Given the description of an element on the screen output the (x, y) to click on. 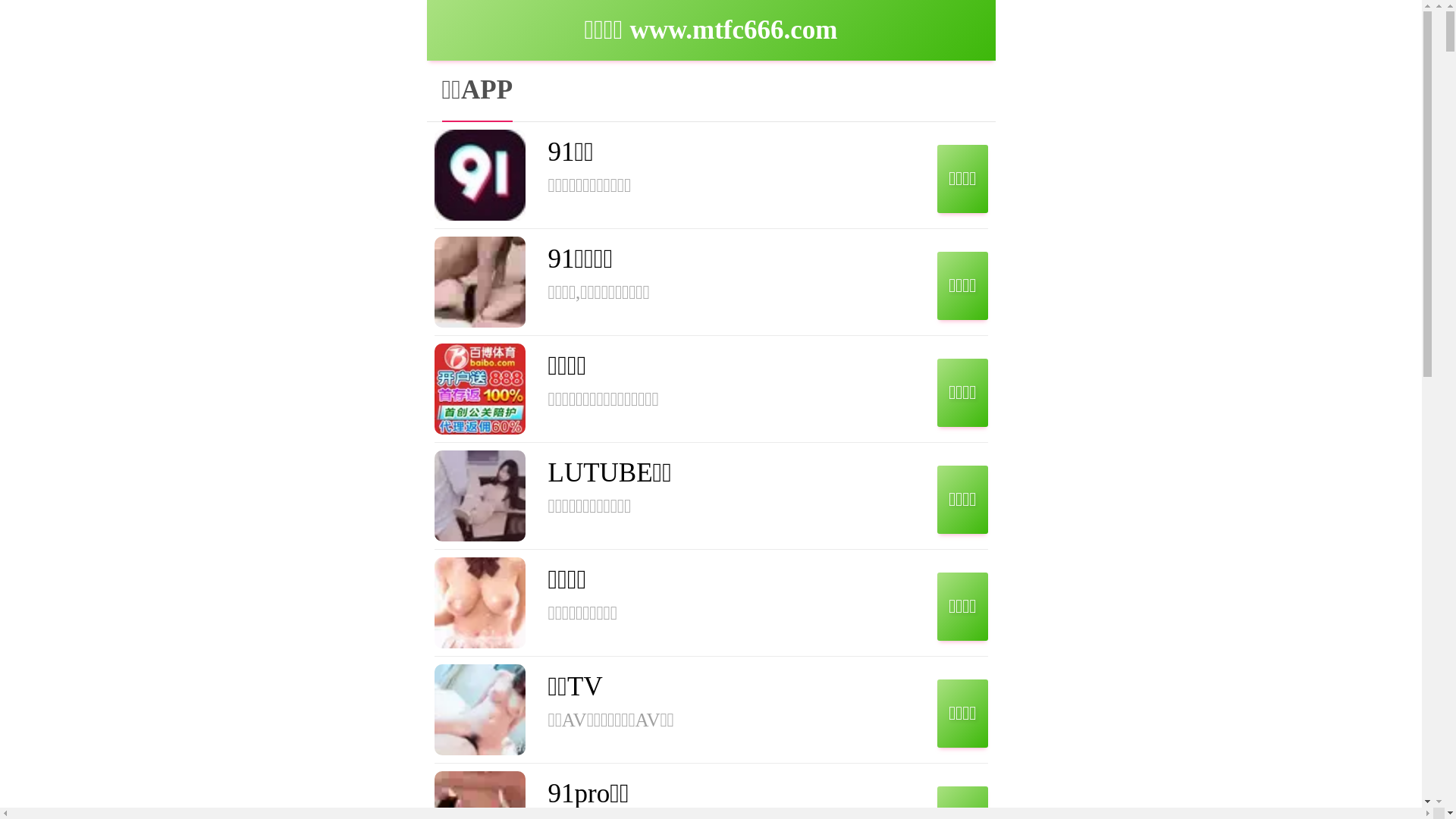
1 Element type: text (1215, 253)
Comments RSS Element type: text (1247, 299)
RSS Element type: text (1228, 290)
admin Element type: text (502, 191)
